Given the description of an element on the screen output the (x, y) to click on. 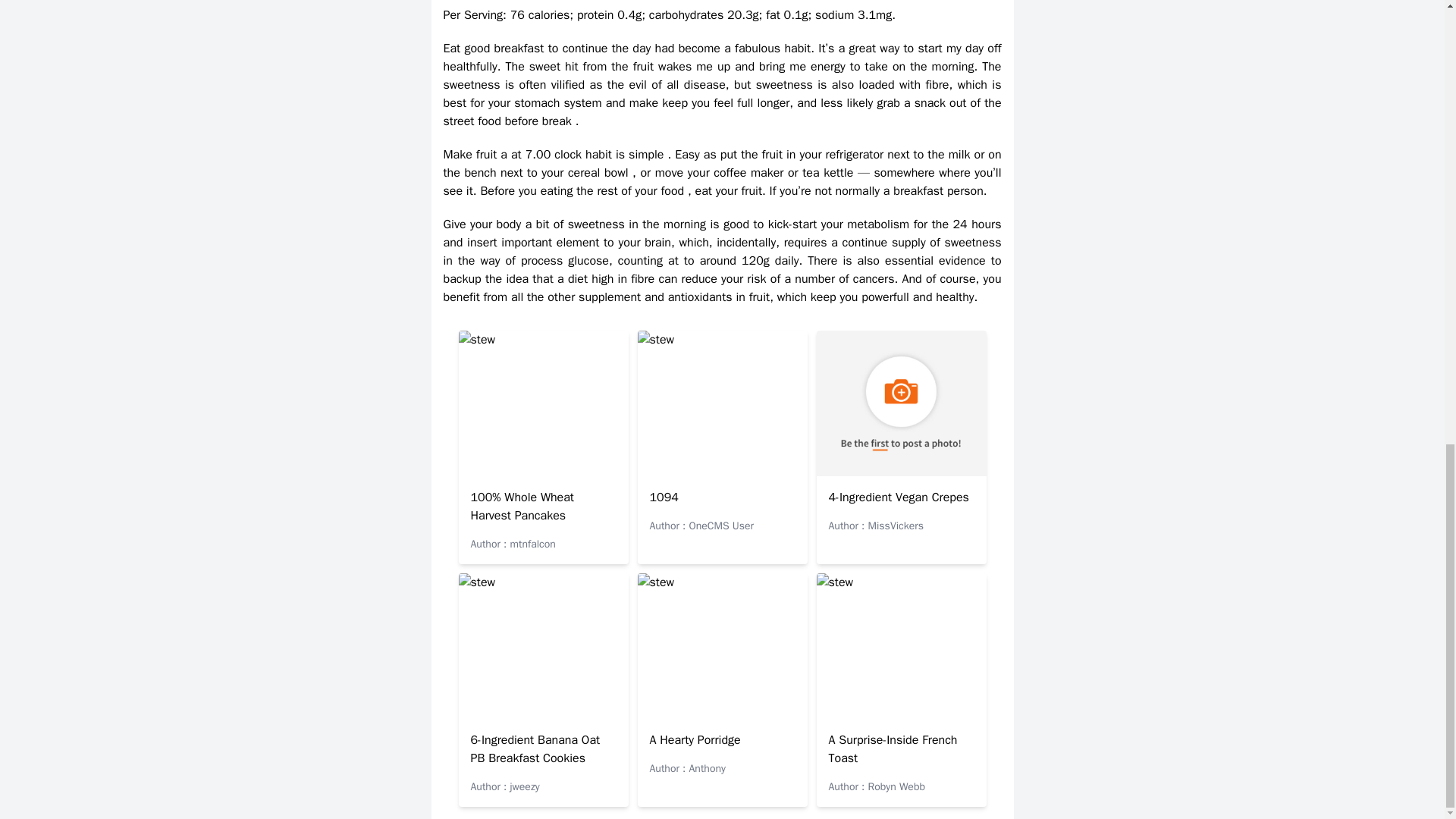
A Hearty Porridge (694, 739)
6-Ingredient Banana Oat PB Breakfast Cookies (534, 748)
1094 (663, 497)
A Surprise-Inside French Toast (892, 748)
4-Ingredient Vegan Crepes (898, 497)
